Given the description of an element on the screen output the (x, y) to click on. 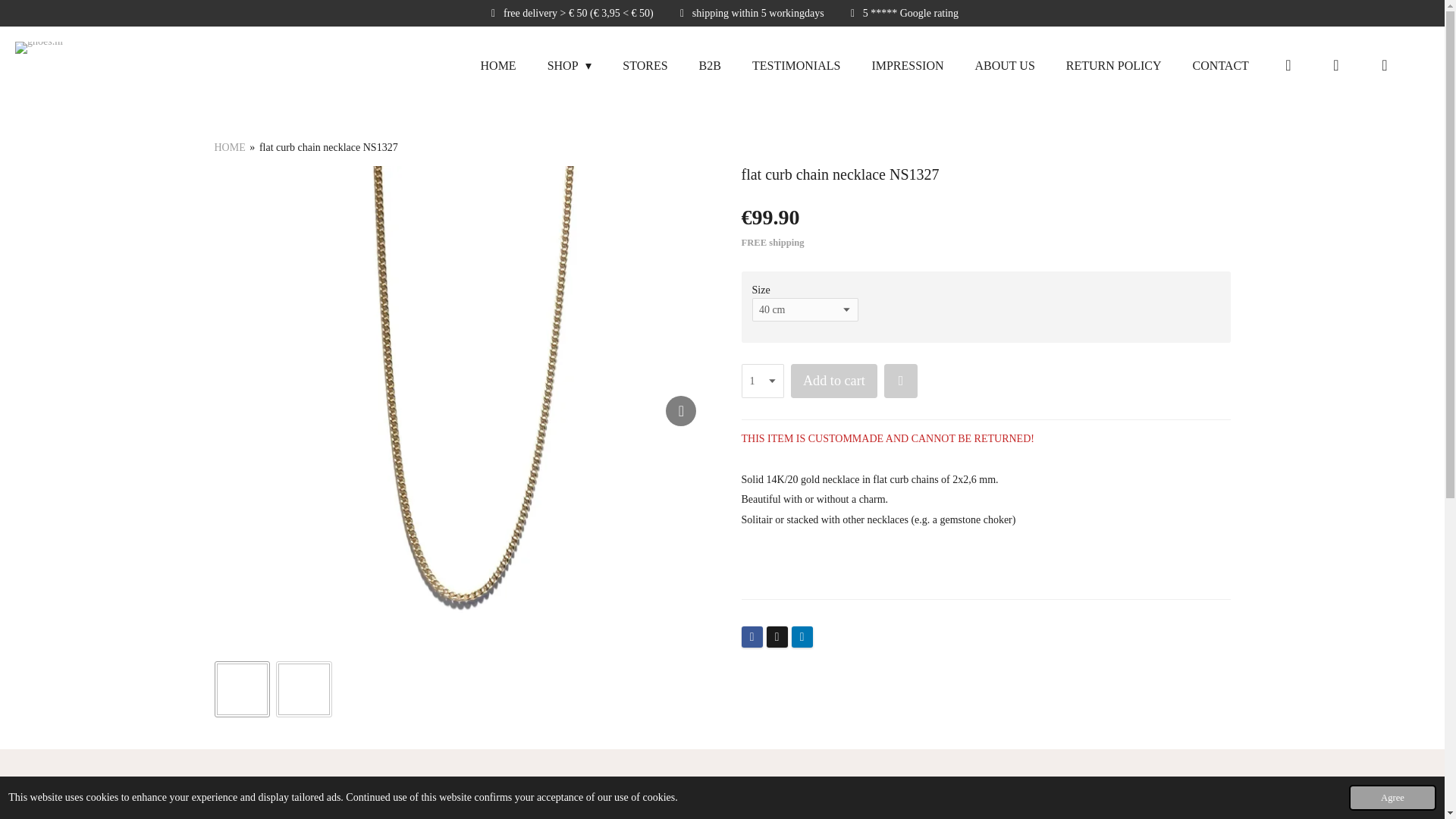
SHOP (569, 65)
STORES (644, 65)
ABOUT US (1005, 65)
Account (1287, 65)
View cart (1385, 65)
HOME (229, 147)
Search (1335, 65)
Add to cart (833, 380)
Add to wishlist (900, 380)
B2B (709, 65)
gnoes.nl (38, 65)
HOME (497, 65)
Add to wishlist (900, 380)
flat curb chain necklace NS1327 (328, 147)
IMPRESSION (907, 65)
